Given the description of an element on the screen output the (x, y) to click on. 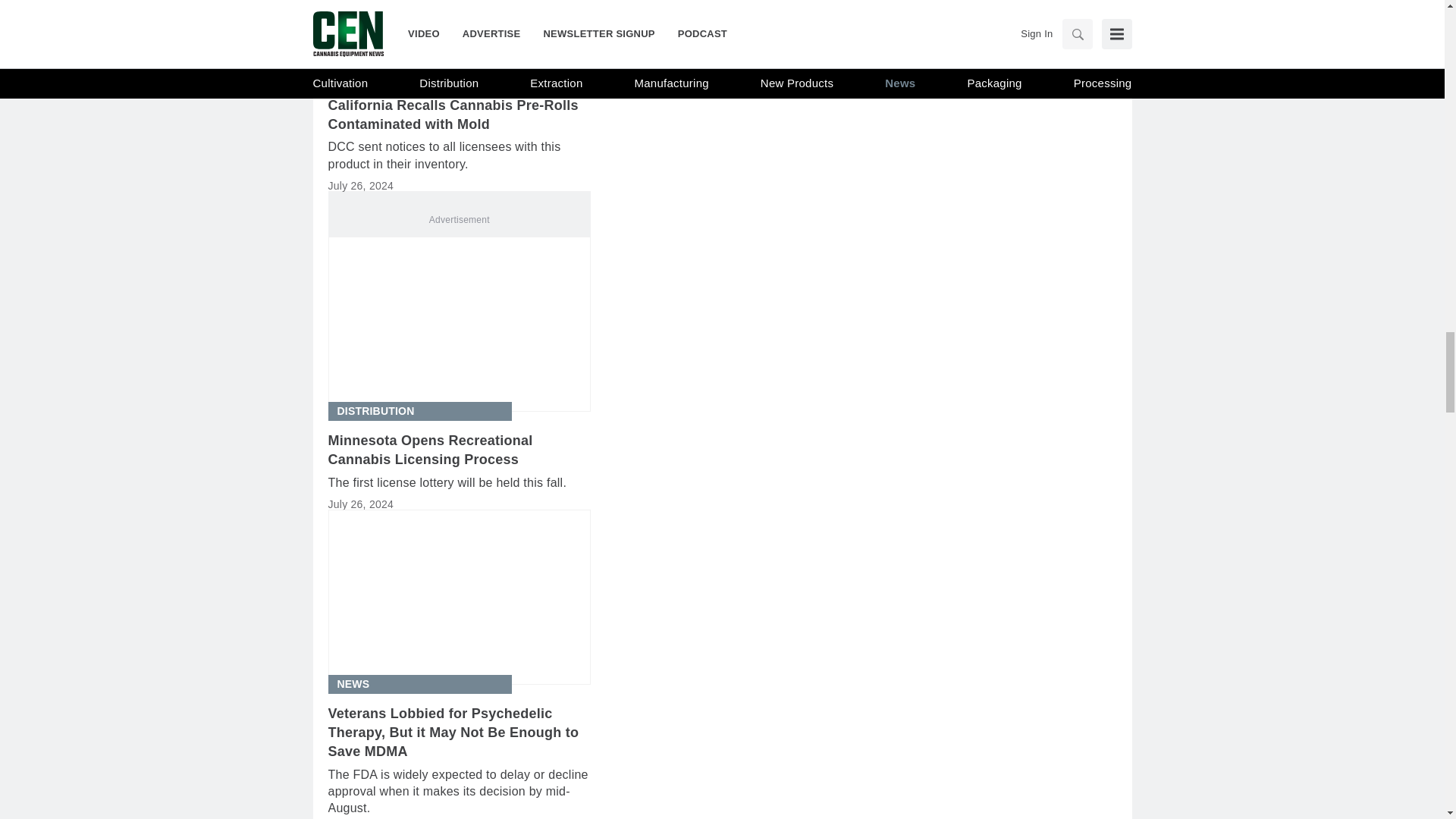
News (352, 75)
News (352, 684)
Distribution (374, 411)
